Given the description of an element on the screen output the (x, y) to click on. 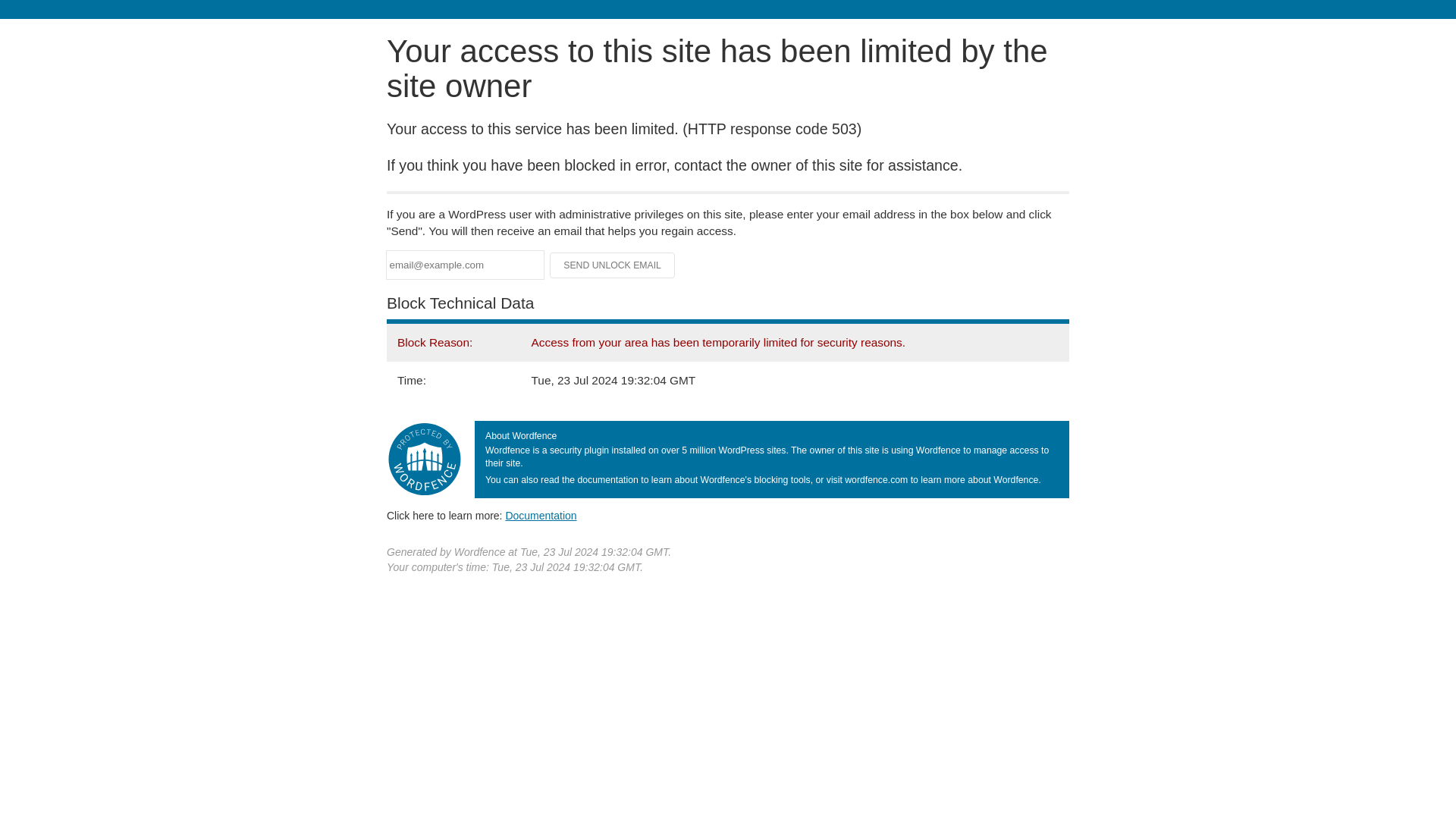
Documentation (540, 515)
Send Unlock Email (612, 265)
Send Unlock Email (612, 265)
